Given the description of an element on the screen output the (x, y) to click on. 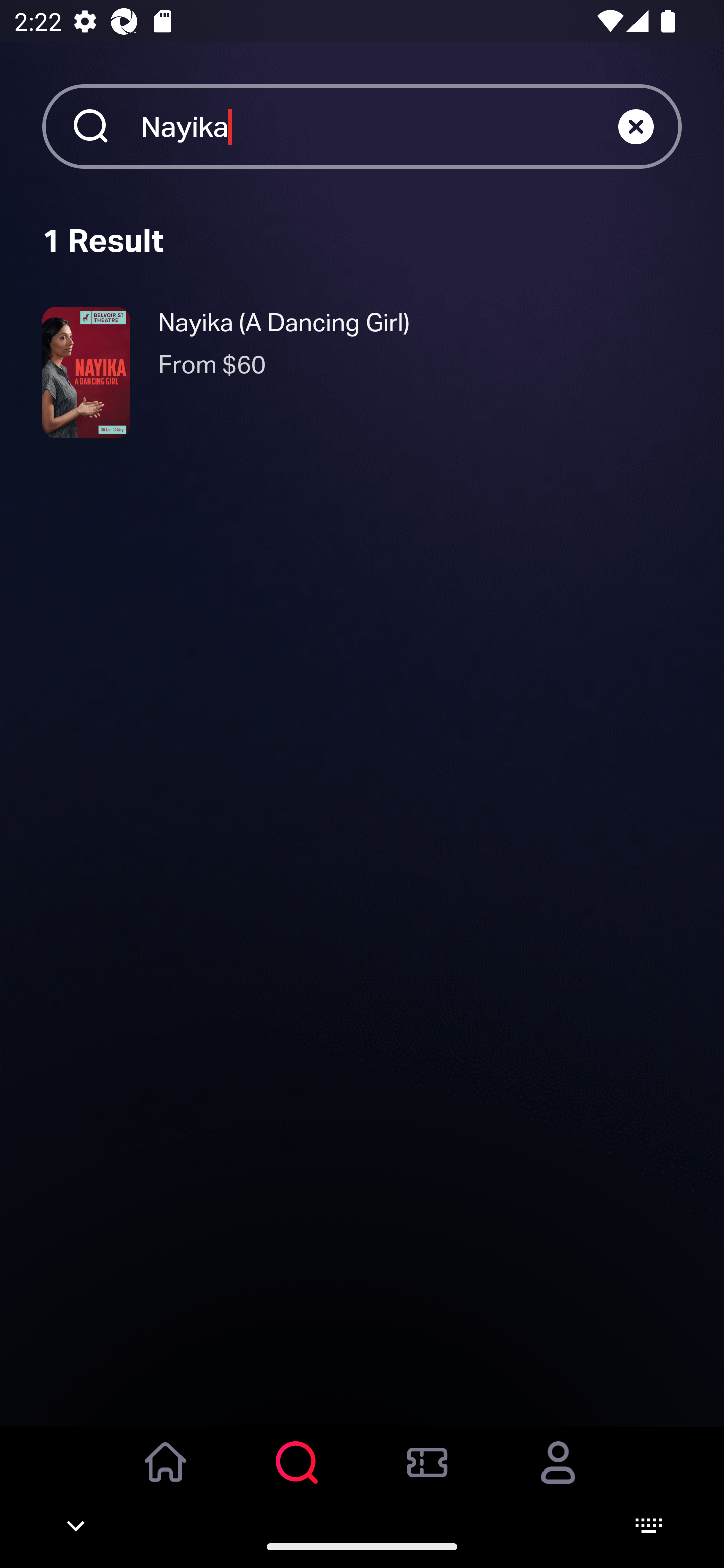
Nayika (379, 126)
Home (165, 1475)
Orders (427, 1475)
Account (558, 1475)
